Given the description of an element on the screen output the (x, y) to click on. 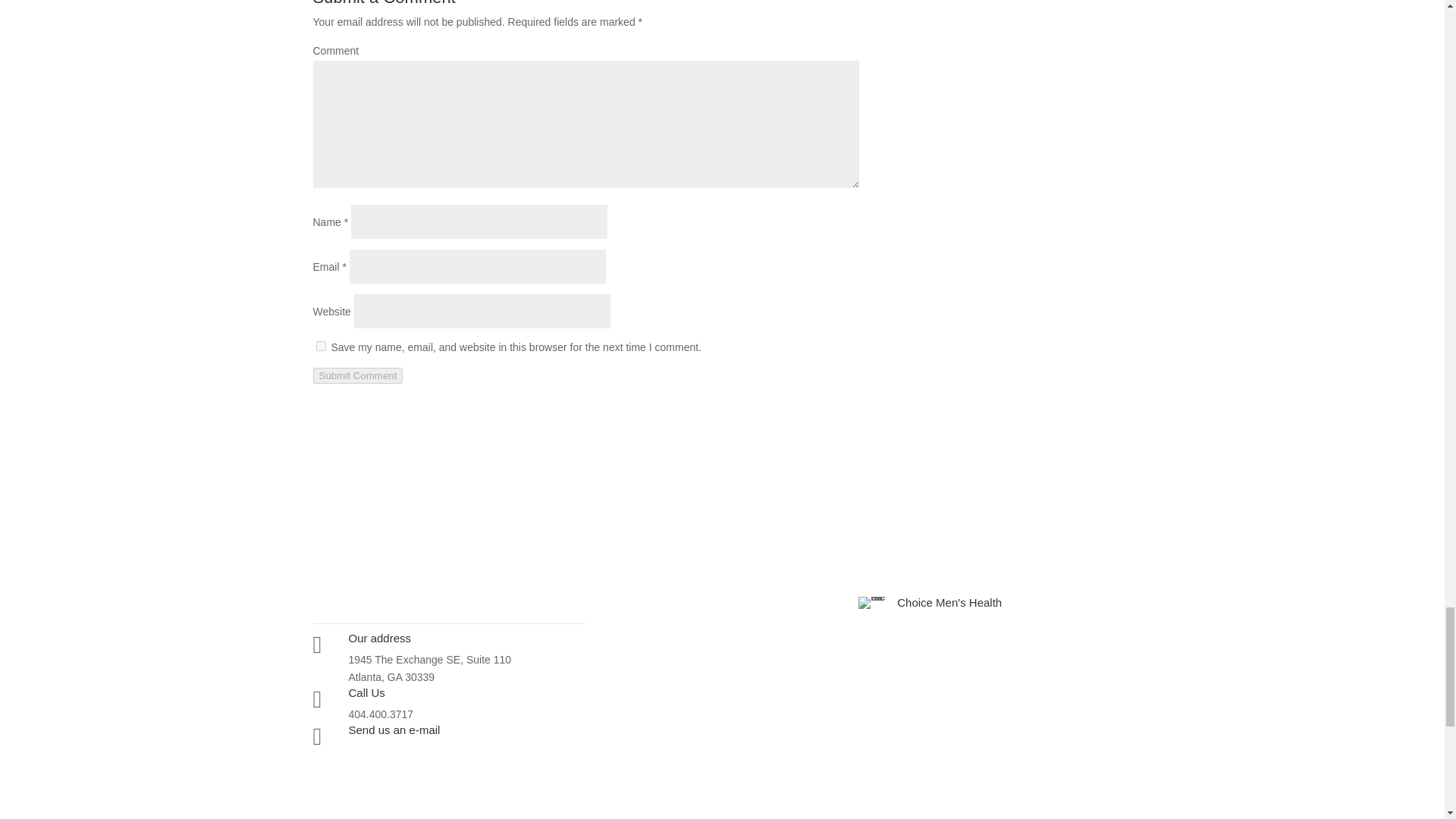
Follow on Pinterest (445, 773)
Follow on LinkedIn (415, 773)
Submit Comment (358, 375)
Follow on Twitter (384, 773)
Follow on Instagram (354, 773)
yes (319, 346)
Follow on Facebook (324, 773)
